Given the description of an element on the screen output the (x, y) to click on. 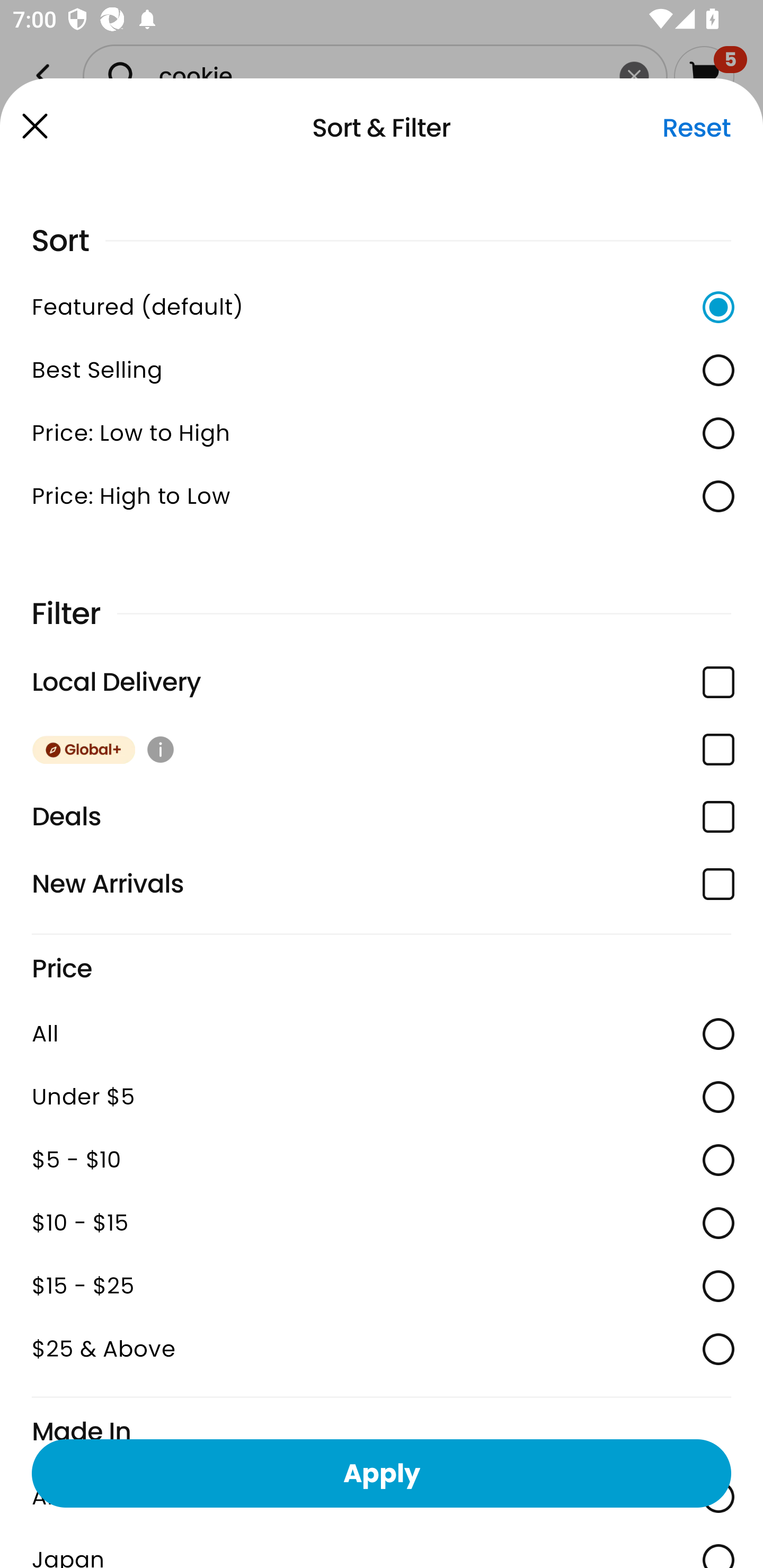
Reset (696, 127)
Apply (381, 1472)
